Given the description of an element on the screen output the (x, y) to click on. 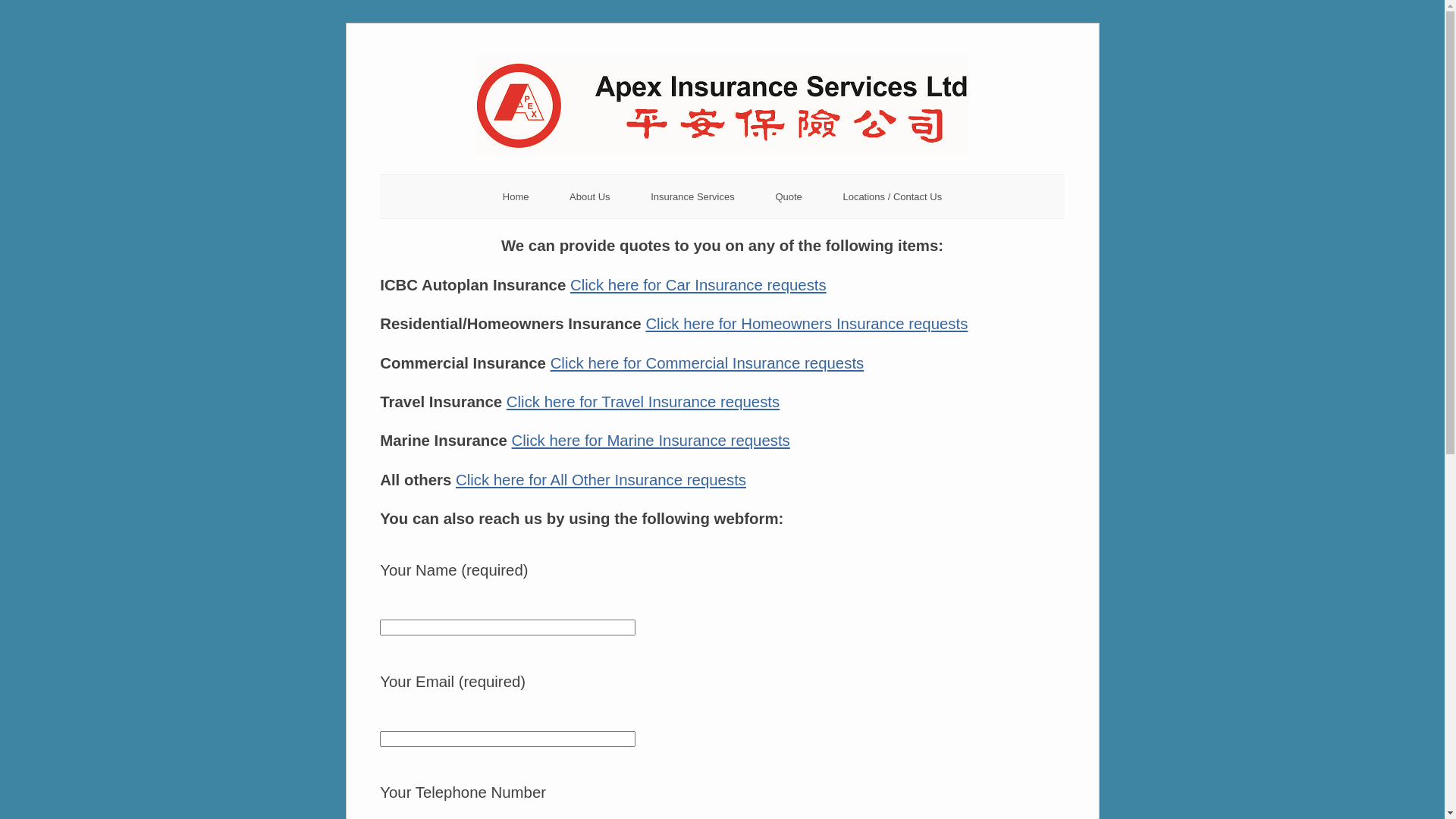
Click here for Marine Insurance requests Element type: text (650, 440)
Quote Element type: text (788, 196)
Skip to content Element type: text (379, 39)
Click here for Homeowners Insurance requests Element type: text (806, 323)
Locations / Contact Us Element type: text (891, 196)
Click here for Commercial Insurance requests Element type: text (707, 362)
About Us Element type: text (589, 196)
Home Element type: text (515, 196)
Click here for All Other Insurance requests Element type: text (600, 479)
Insurance Services Element type: text (692, 196)
Click here for Travel Insurance requests Element type: text (642, 401)
Click here for Car Insurance requests Element type: text (698, 284)
